Given the description of an element on the screen output the (x, y) to click on. 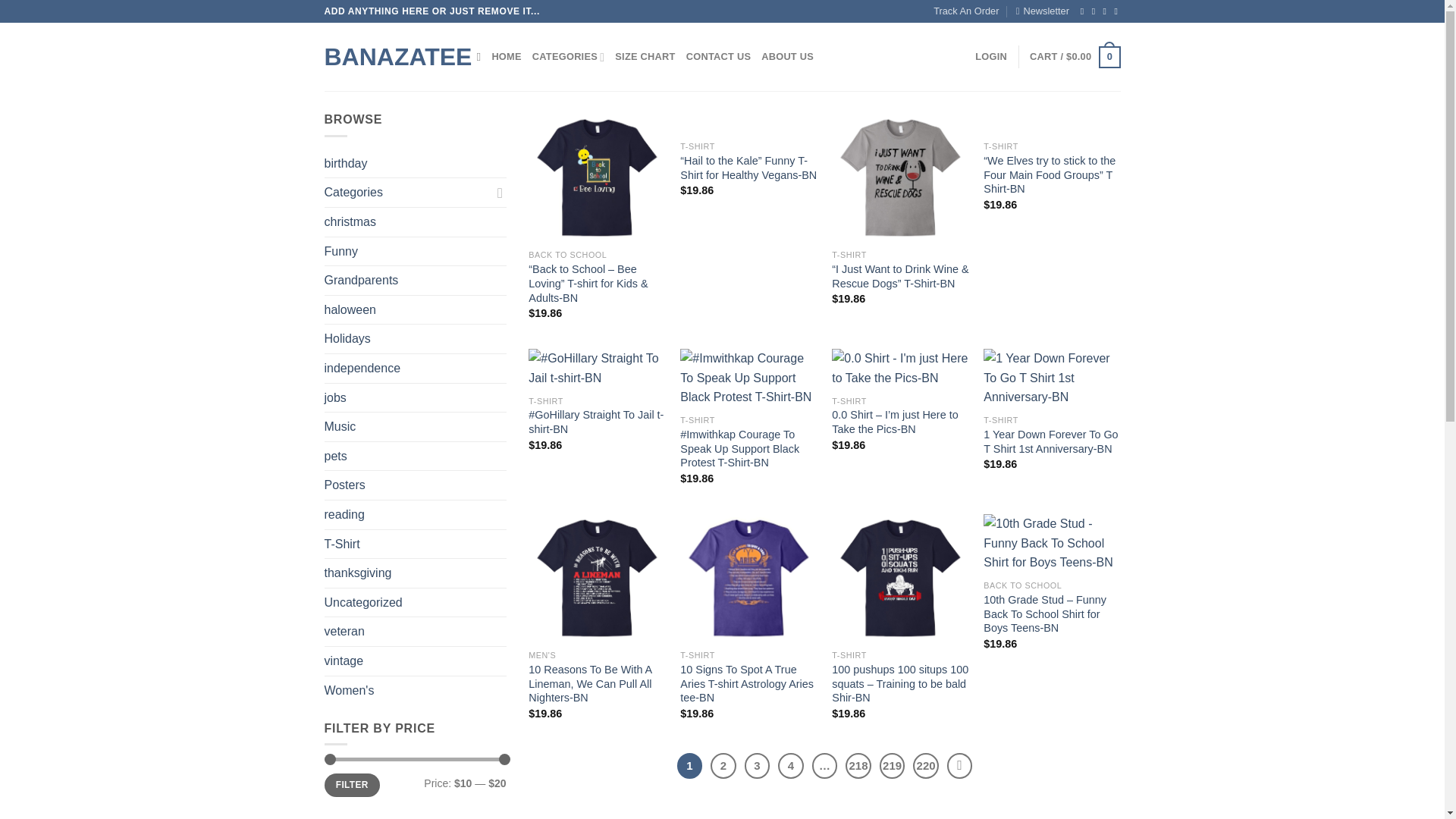
CONTACT US (718, 56)
birthday (415, 163)
Cart (1074, 57)
ABOUT US (787, 56)
HOME (506, 56)
LOGIN (991, 56)
Track An Order (965, 11)
Banazatee - Cool T Shirt Designs For Men And Women (389, 56)
BANAZATEE (389, 56)
SIZE CHART (644, 56)
